Given the description of an element on the screen output the (x, y) to click on. 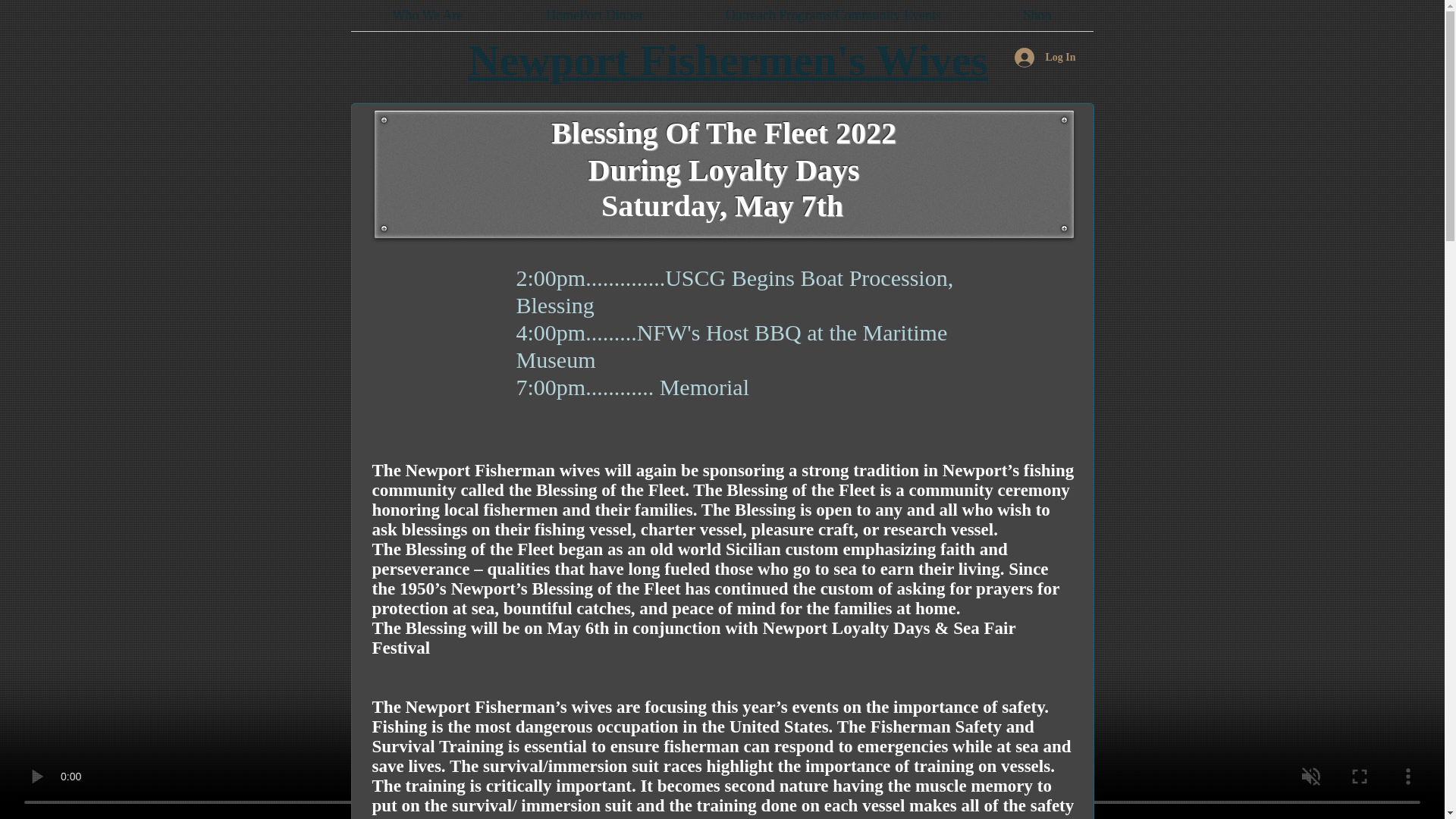
Log In (1045, 57)
HomePort Dinner (595, 15)
Who We Are (426, 15)
Shop (1037, 15)
